Given the description of an element on the screen output the (x, y) to click on. 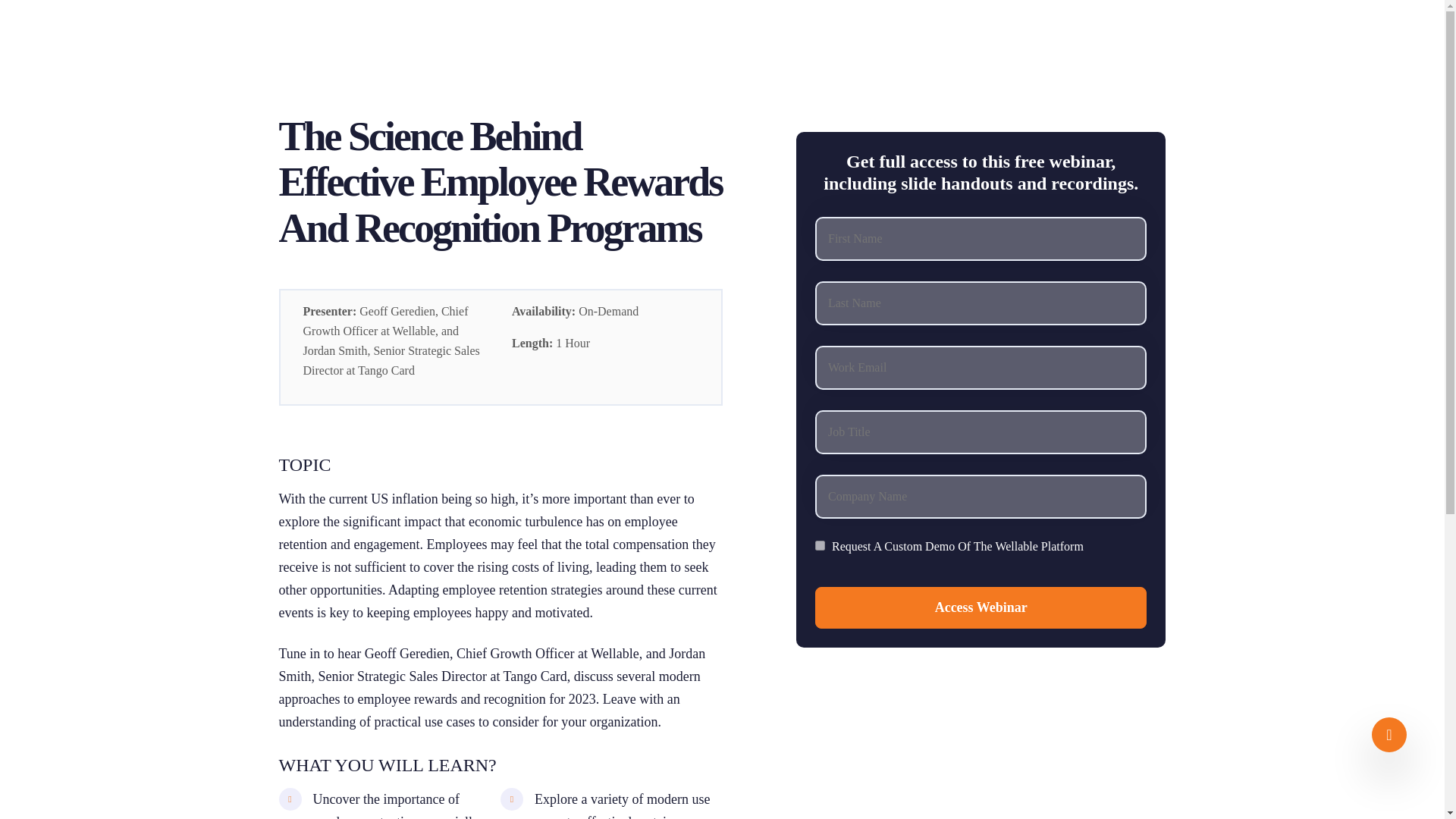
Access Webinar (981, 608)
Access Webinar (981, 608)
false (820, 545)
